Given the description of an element on the screen output the (x, y) to click on. 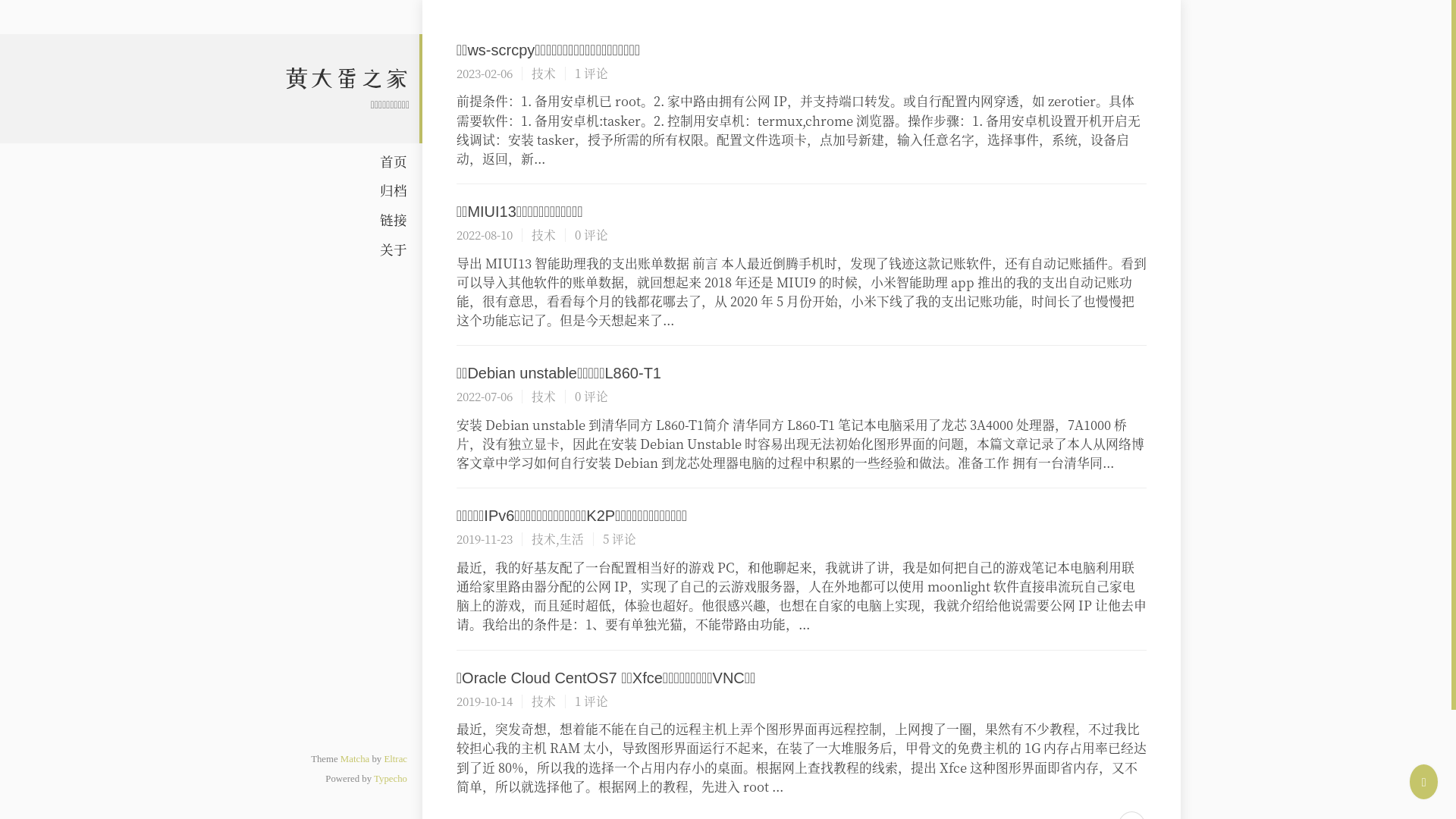
Eltrac Element type: text (395, 758)
Typecho Element type: text (390, 778)
Matcha Element type: text (354, 758)
